Given the description of an element on the screen output the (x, y) to click on. 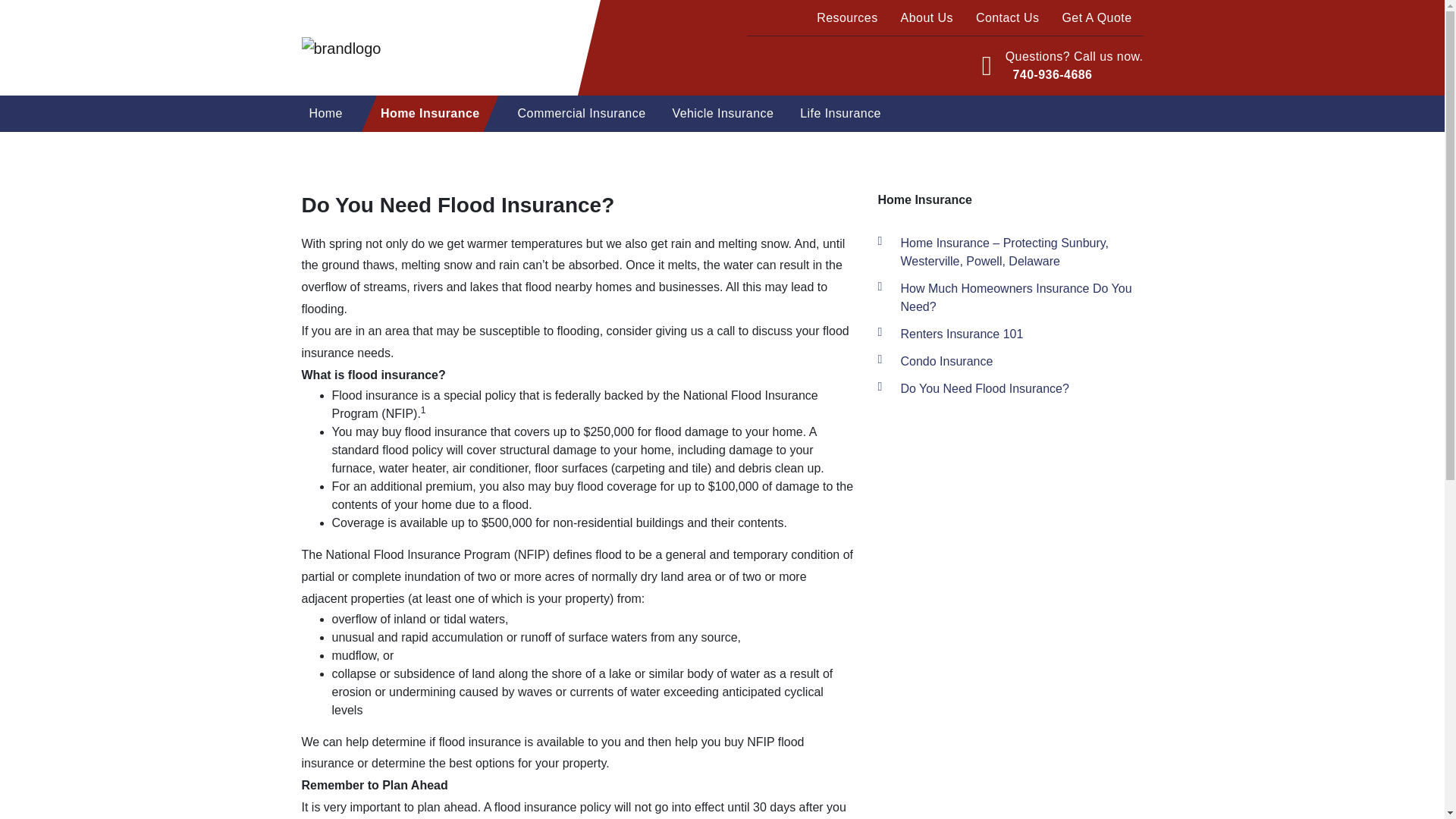
Life Insurance (840, 113)
Condo Insurance (431, 149)
Renters Insurance 101 (431, 156)
Home Insurance (430, 113)
Life Insurance (862, 149)
Resources (846, 18)
Home (325, 113)
About Us (926, 18)
Griffith Insurance Group (371, 156)
740-936-4686 (1049, 74)
Motorcycle Insurance (734, 149)
Get A Quote (1095, 18)
Life, Health, and Umbrella Insurance (862, 156)
Contact Us (1007, 18)
